Given the description of an element on the screen output the (x, y) to click on. 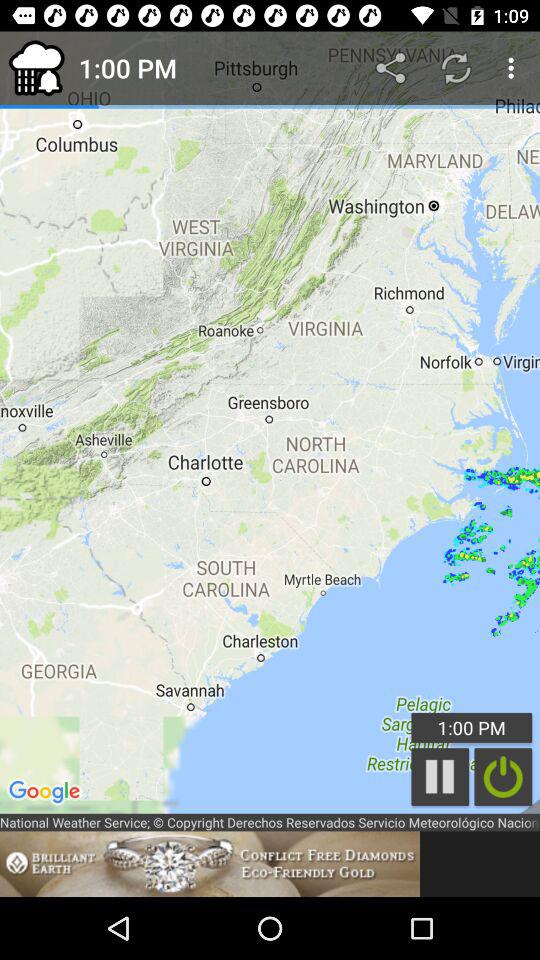
go to pause (503, 776)
